Given the description of an element on the screen output the (x, y) to click on. 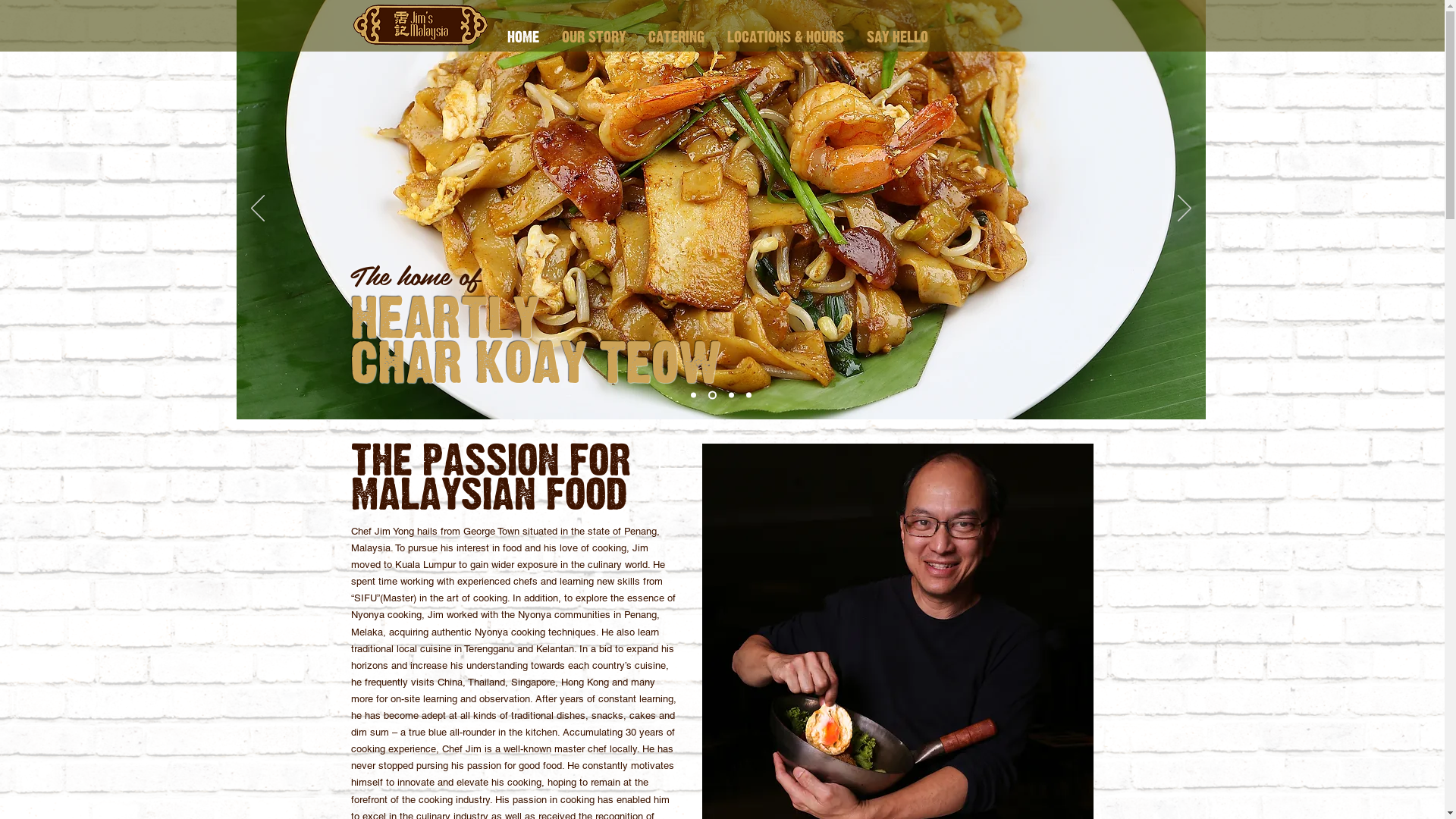
180909_JimsMalaysia_Logo_website.png Element type: hover (420, 24)
LOCATIONS & HOURS Element type: text (785, 37)
OUR STORY Element type: text (593, 37)
CATERING Element type: text (676, 37)
Feeling Hungry? Element type: text (722, 452)
SAY HELLO Element type: text (897, 37)
HOME Element type: text (522, 37)
